Given the description of an element on the screen output the (x, y) to click on. 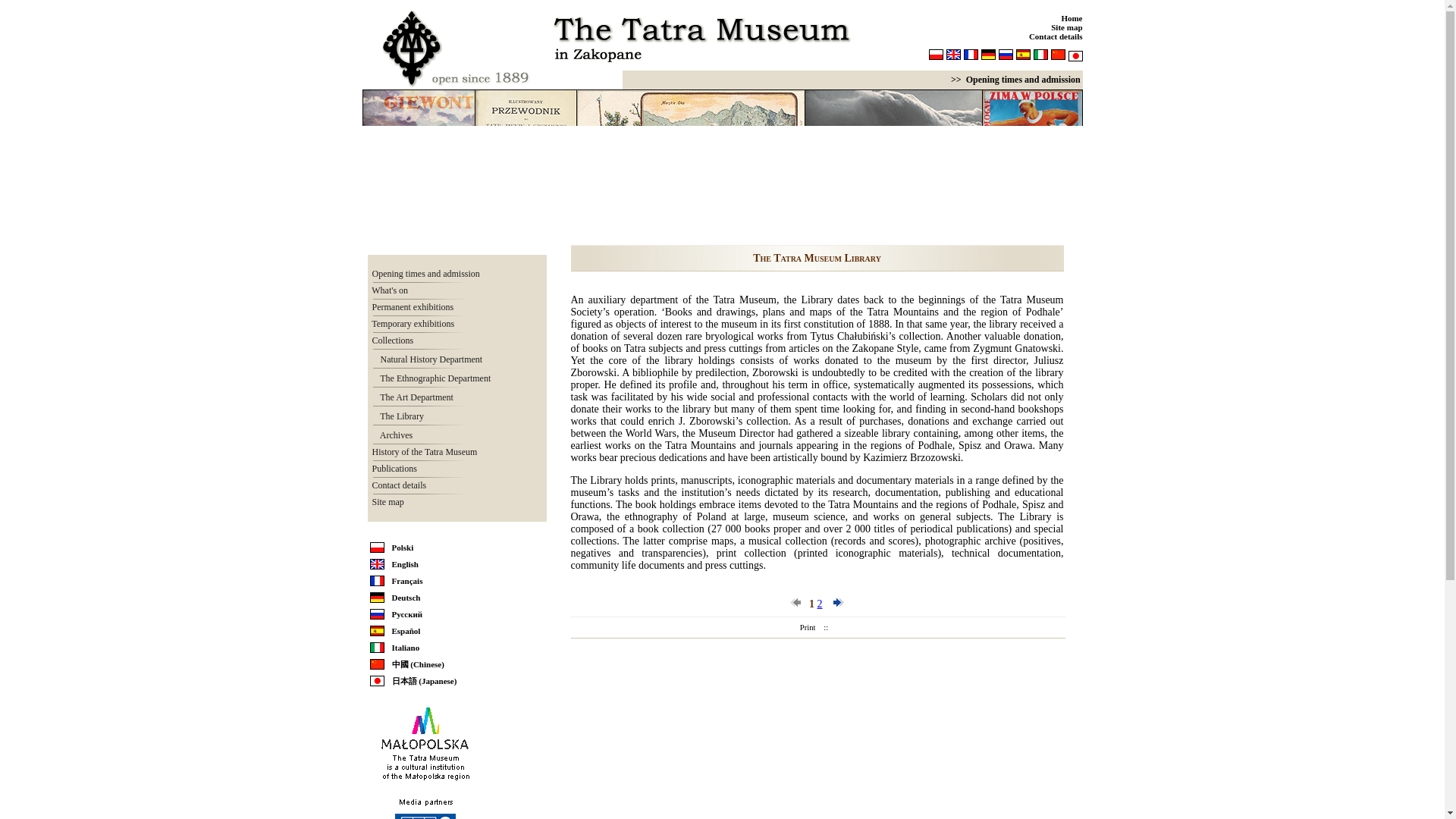
  Temporary exhibitions (410, 323)
  Site map (384, 501)
  Natural History Department (426, 358)
  The Library (397, 416)
  Archives (392, 434)
  History of the Tatra Museum (421, 451)
  Publications (391, 468)
Site map (1066, 26)
  The Art Department (412, 397)
Deutsch (405, 596)
